Given the description of an element on the screen output the (x, y) to click on. 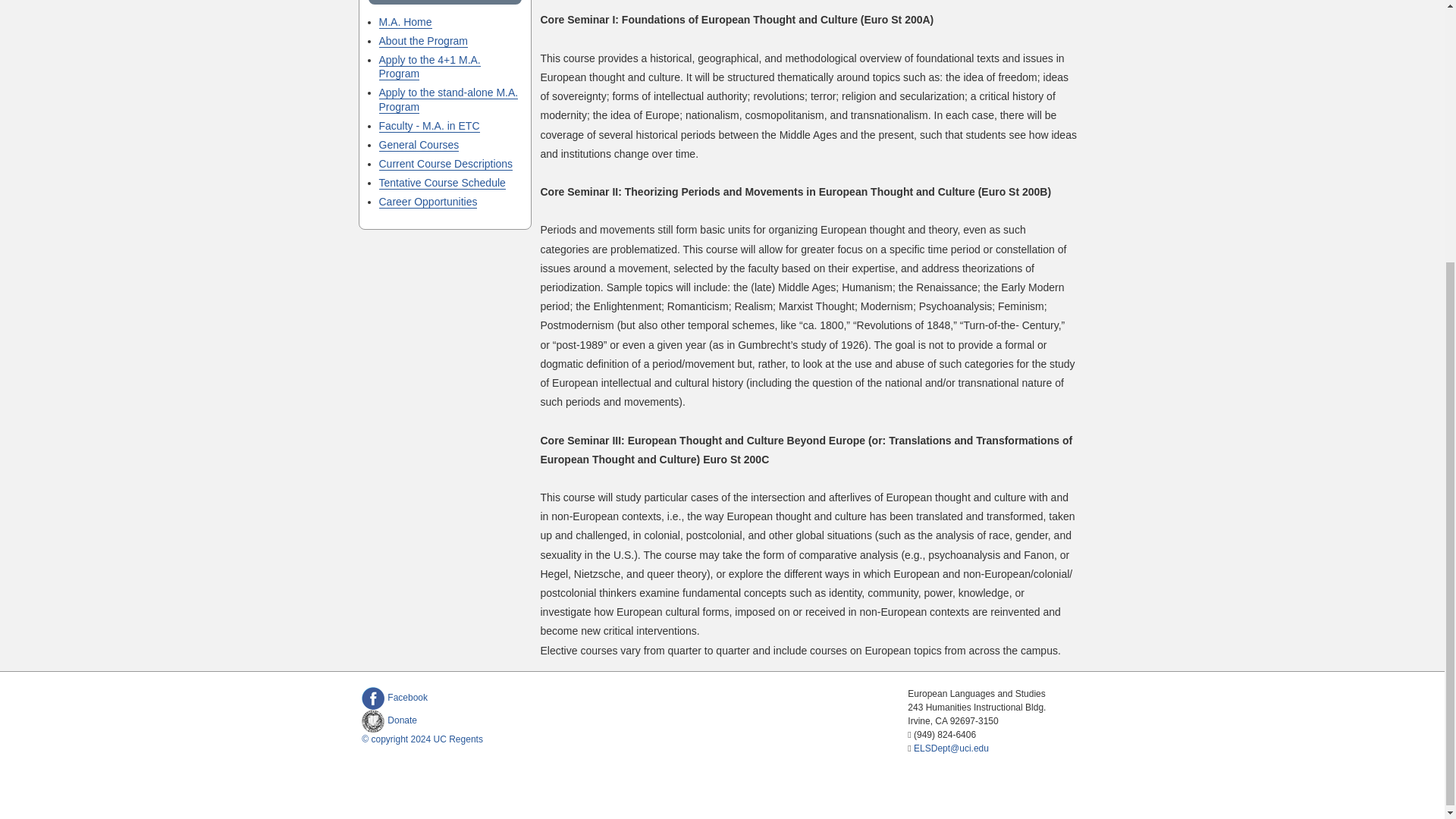
M.A. Program - European Thought and Culture (429, 125)
General Courses (419, 144)
About the Program (423, 41)
Faculty - M.A. in ETC (429, 125)
Tentative Course Schedule (441, 182)
Learn about the M.A. Program in European Thought and Culture (405, 21)
Current Course Descriptions (445, 164)
Career Opportunities (427, 201)
Apply to the M.A. Program in European Thought and Culture (448, 99)
About the M.A. Program in European Thought and Culture (423, 41)
Apply to the stand-alone M.A. Program (448, 99)
Apply to the M.A. Program in European Thought and Culture (429, 67)
M.A. Home (405, 21)
